Given the description of an element on the screen output the (x, y) to click on. 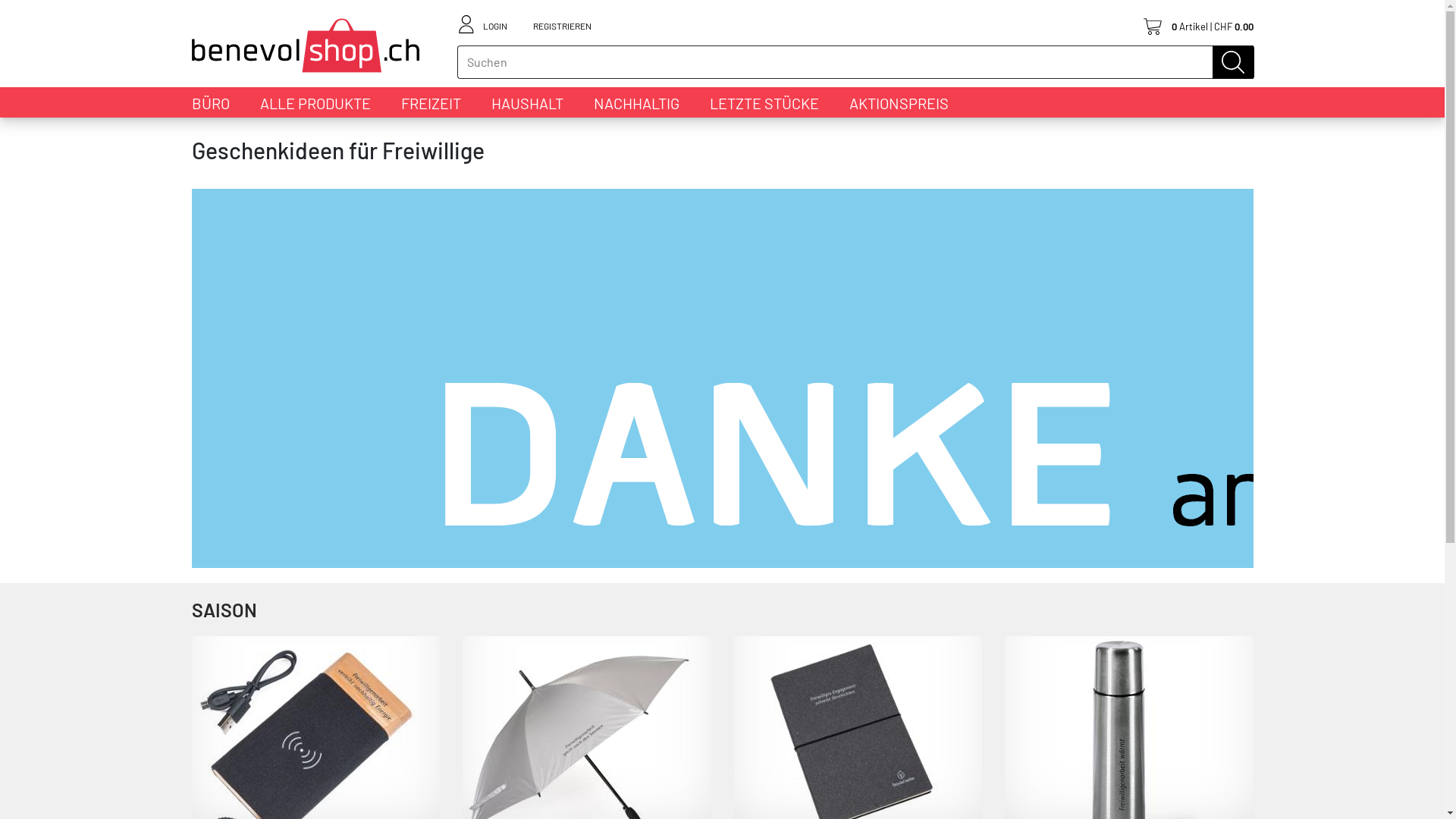
LOGIN Element type: text (494, 24)
FREIZEIT Element type: text (430, 102)
AKTIONSPREIS Element type: text (898, 102)
NACHHALTIG Element type: text (635, 102)
0 Artikel | CHF 0.00 Element type: text (1198, 24)
ALLE PRODUKTE Element type: text (314, 102)
HAUSHALT Element type: text (527, 102)
